Given the description of an element on the screen output the (x, y) to click on. 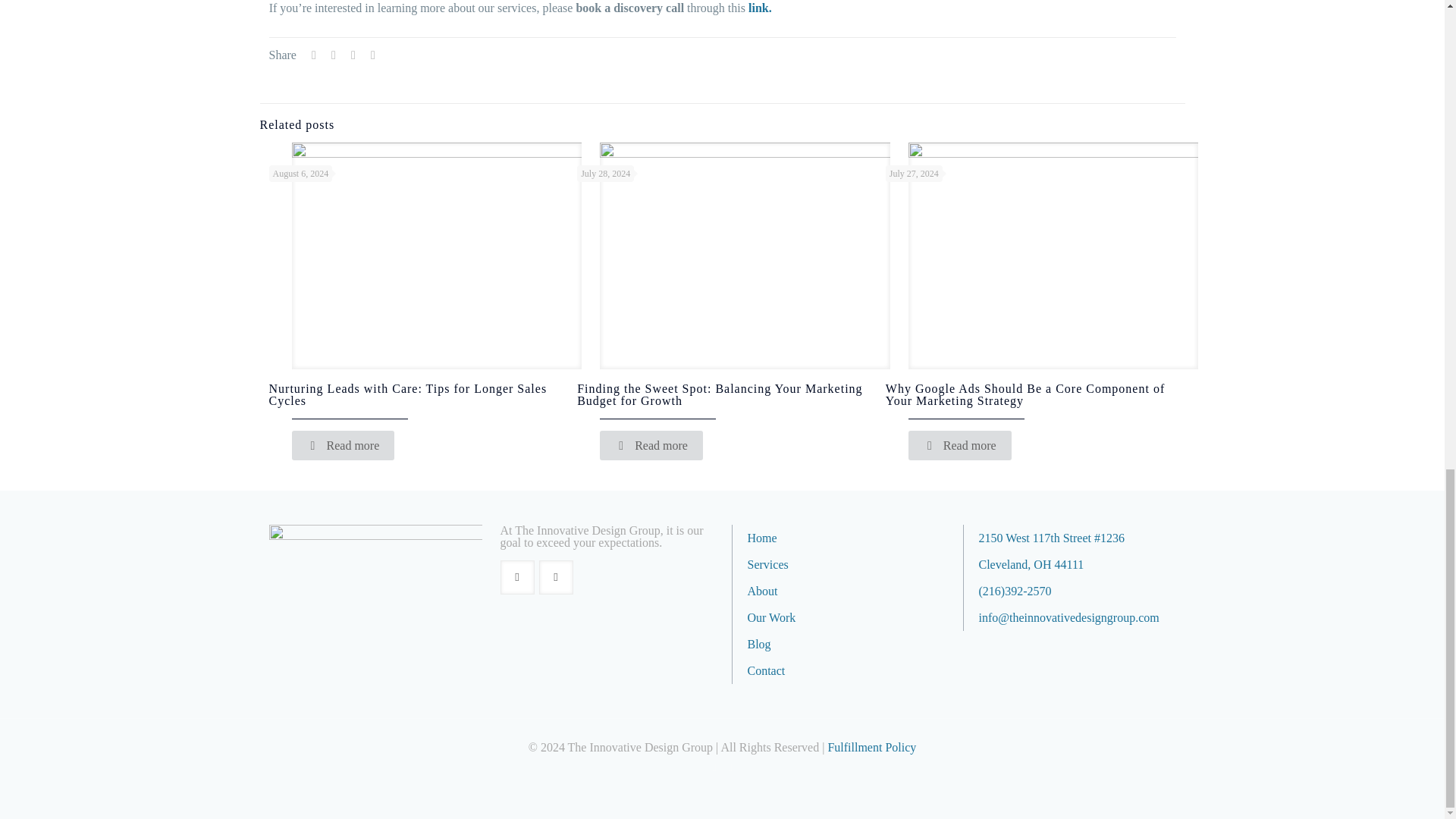
Instagram (730, 767)
link. (759, 7)
Read more (342, 445)
Facebook (713, 767)
Nurturing Leads with Care: Tips for Longer Sales Cycles (407, 394)
